Given the description of an element on the screen output the (x, y) to click on. 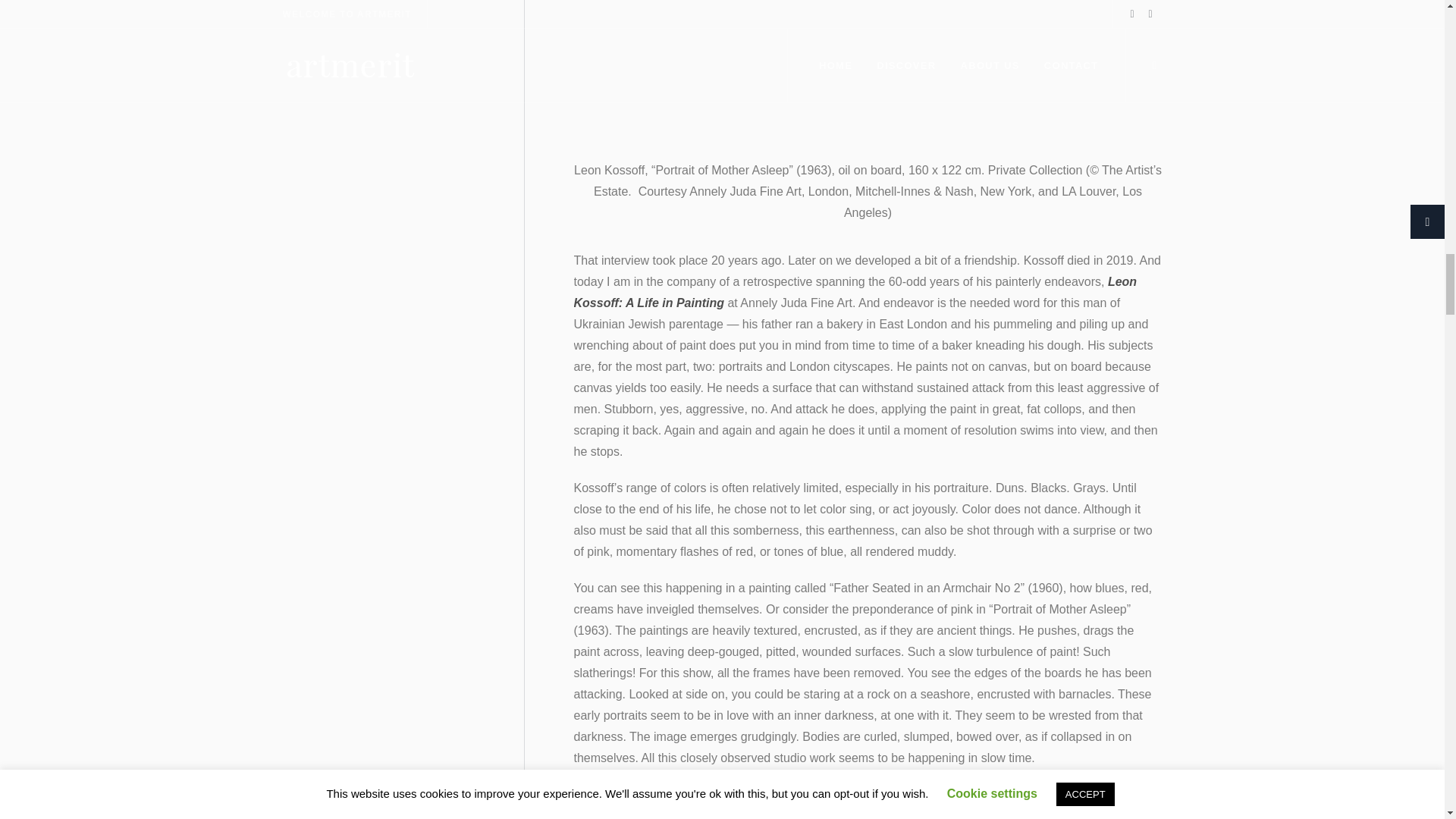
Leon Kossoff: A Life in Painting (855, 292)
